Given the description of an element on the screen output the (x, y) to click on. 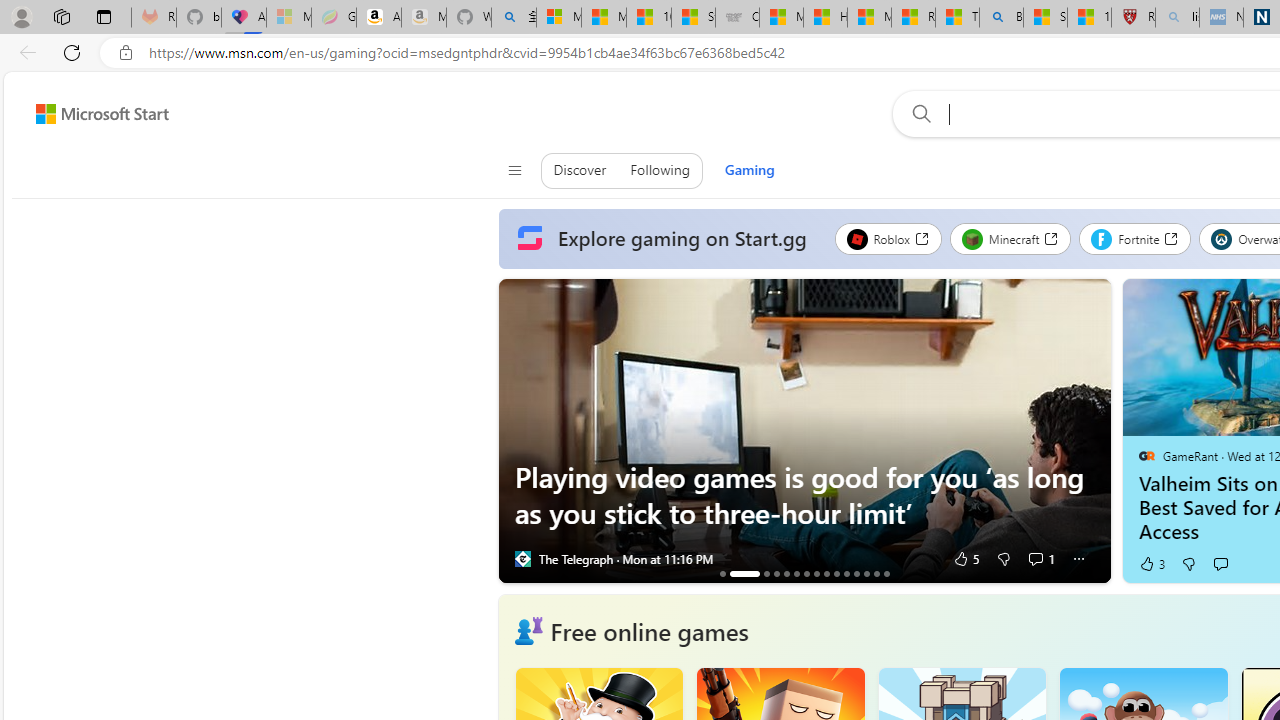
AutomationID: tab_nativead-infopane-3 (766, 573)
Class: control icon-only (514, 170)
Minecraft (1010, 238)
12 Popular Science Lies that Must be Corrected (1089, 17)
AutomationID: tab_nativead-infopane-14 (876, 573)
Robert H. Shmerling, MD - Harvard Health (1133, 17)
Next slide (1095, 431)
How To Be a Better Human (786, 573)
Web search (917, 113)
Skip to content (95, 113)
Asthma Inhalers: Names and Types (243, 17)
See more (1078, 558)
